Given the description of an element on the screen output the (x, y) to click on. 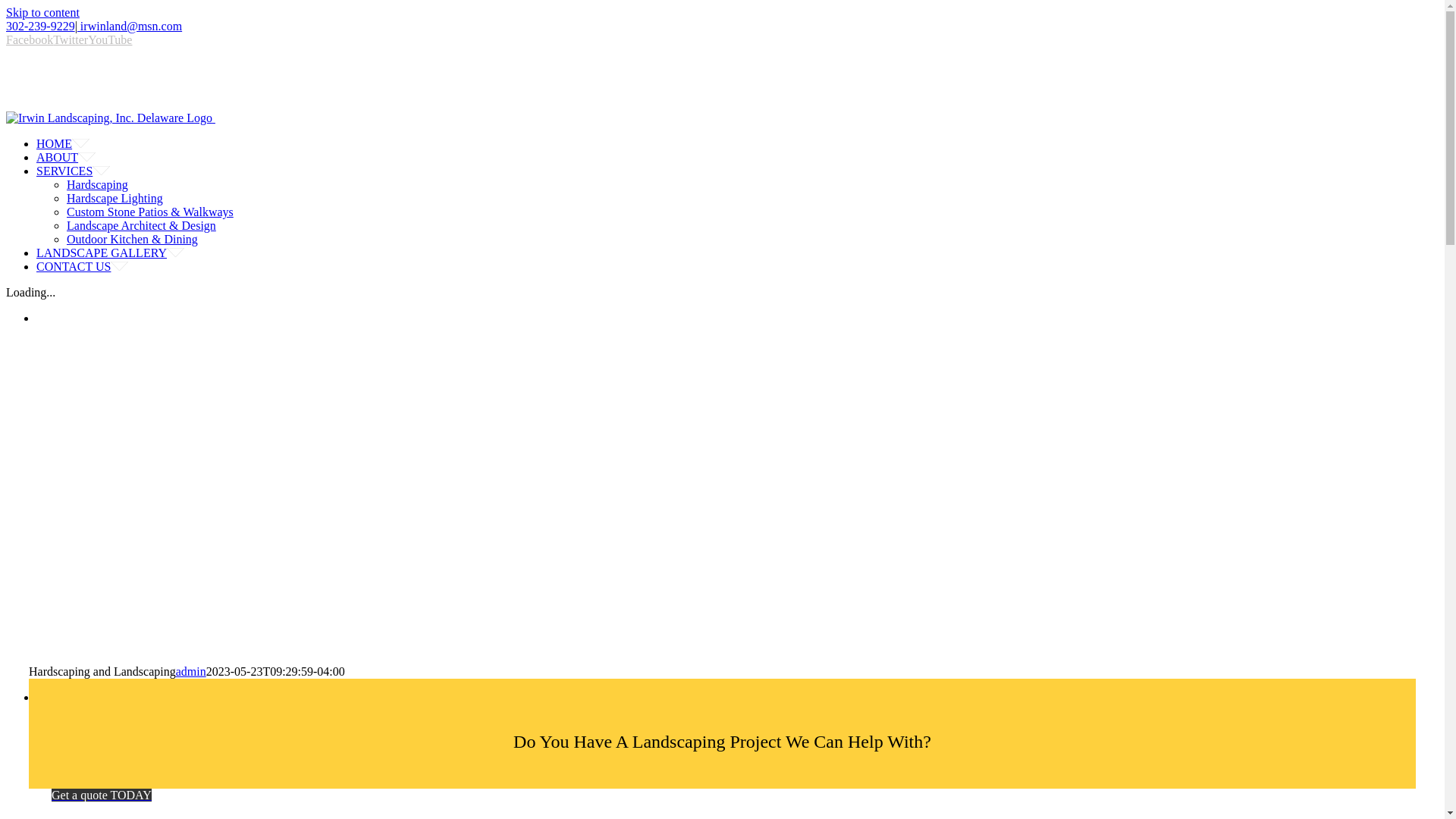
Twitter (69, 39)
Get a quote TODAY (100, 794)
302-239-9229 (40, 25)
Facebook (28, 39)
Get a quote TODAY (722, 802)
HOME (62, 143)
Hardscaping (97, 184)
SERVICES (82, 170)
Hardscape Lighting (114, 197)
CONTACT US (82, 266)
ABOUT (66, 156)
Skip to content (42, 11)
YouTube (109, 39)
Posts by admin (191, 671)
